Given the description of an element on the screen output the (x, y) to click on. 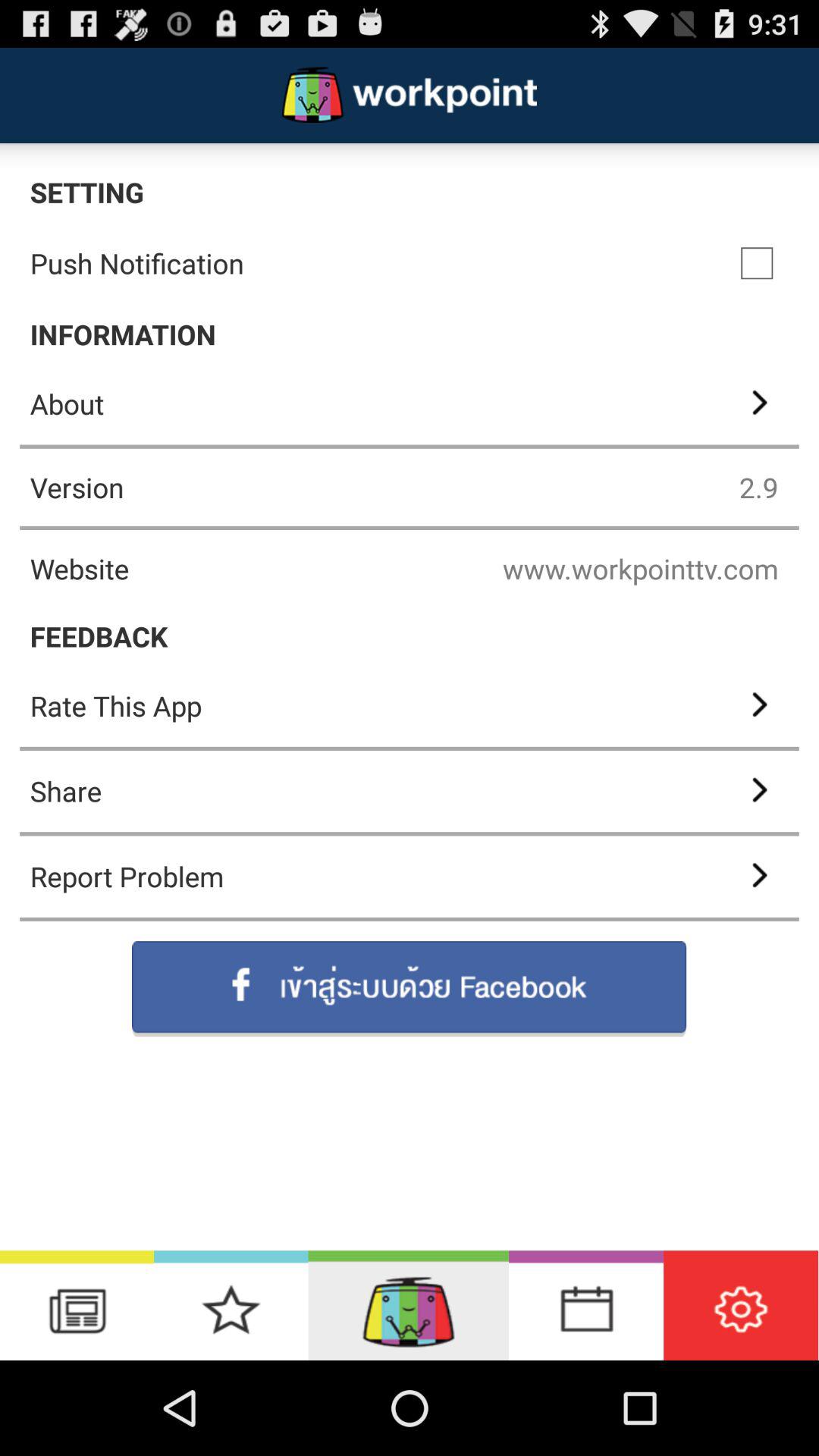
toggle push notification option (756, 263)
